Given the description of an element on the screen output the (x, y) to click on. 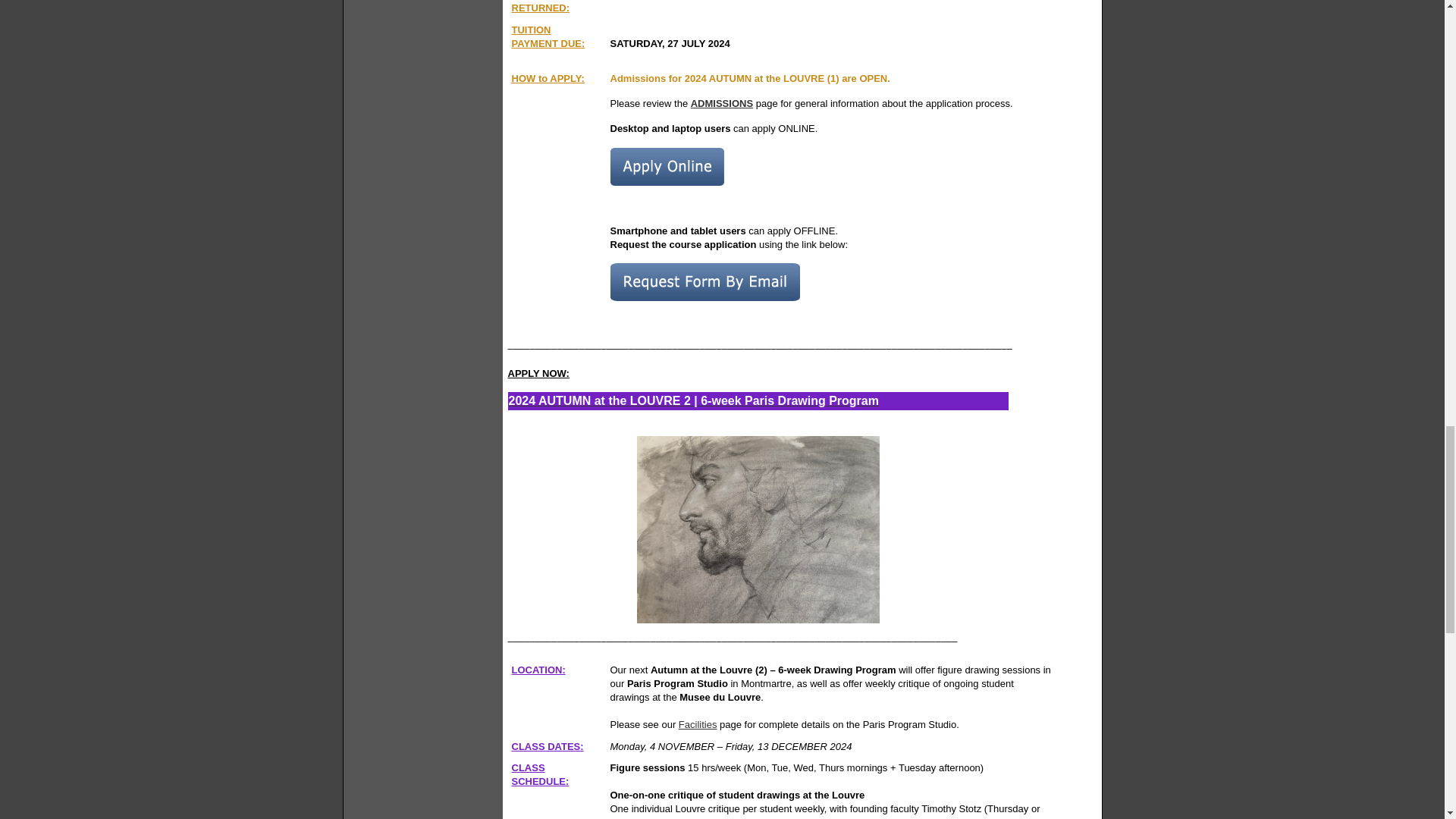
Facilities (697, 724)
Facilities (697, 724)
ADMISSIONS (721, 102)
